Given the description of an element on the screen output the (x, y) to click on. 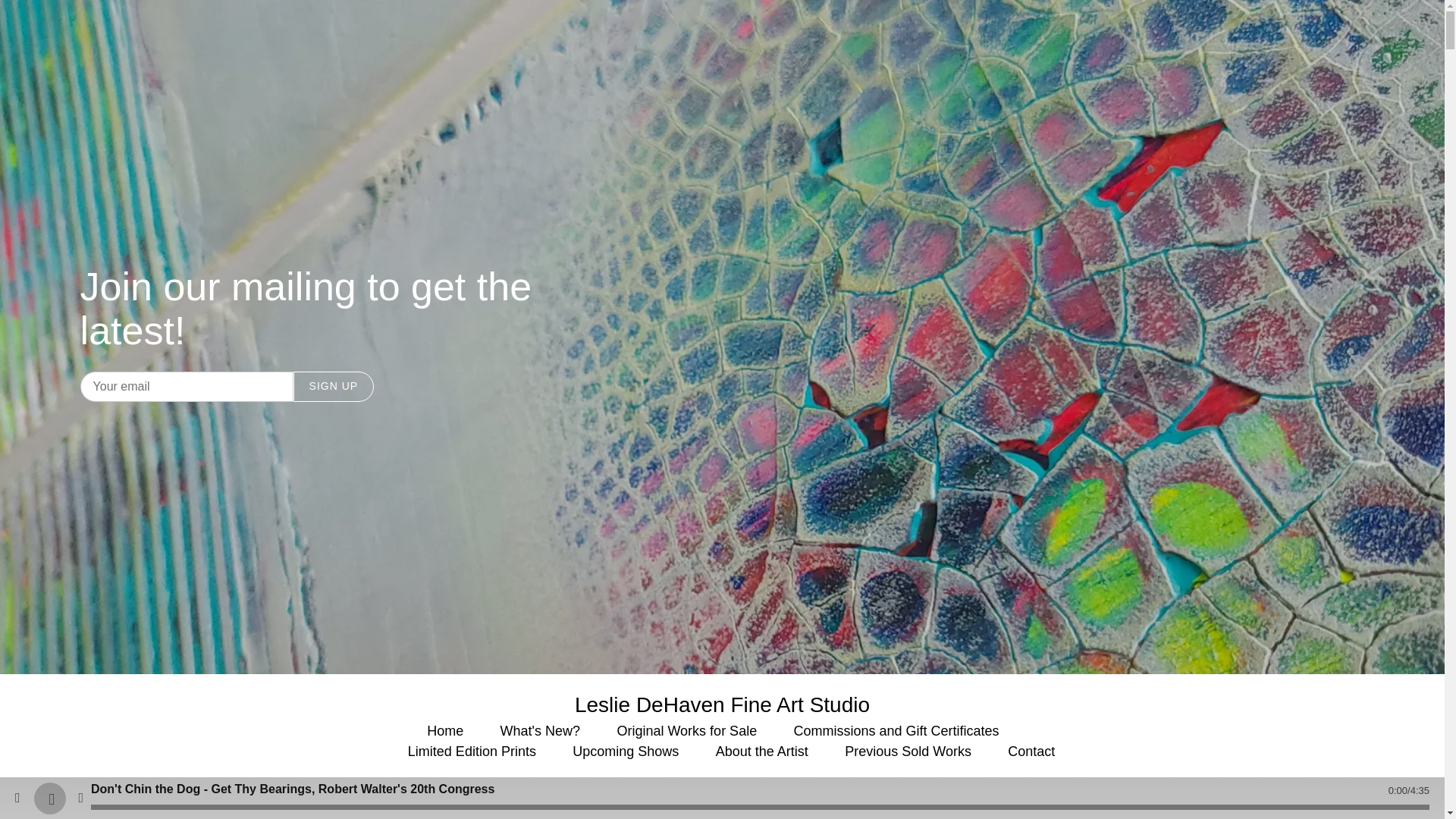
SIGN UP (334, 386)
